Given the description of an element on the screen output the (x, y) to click on. 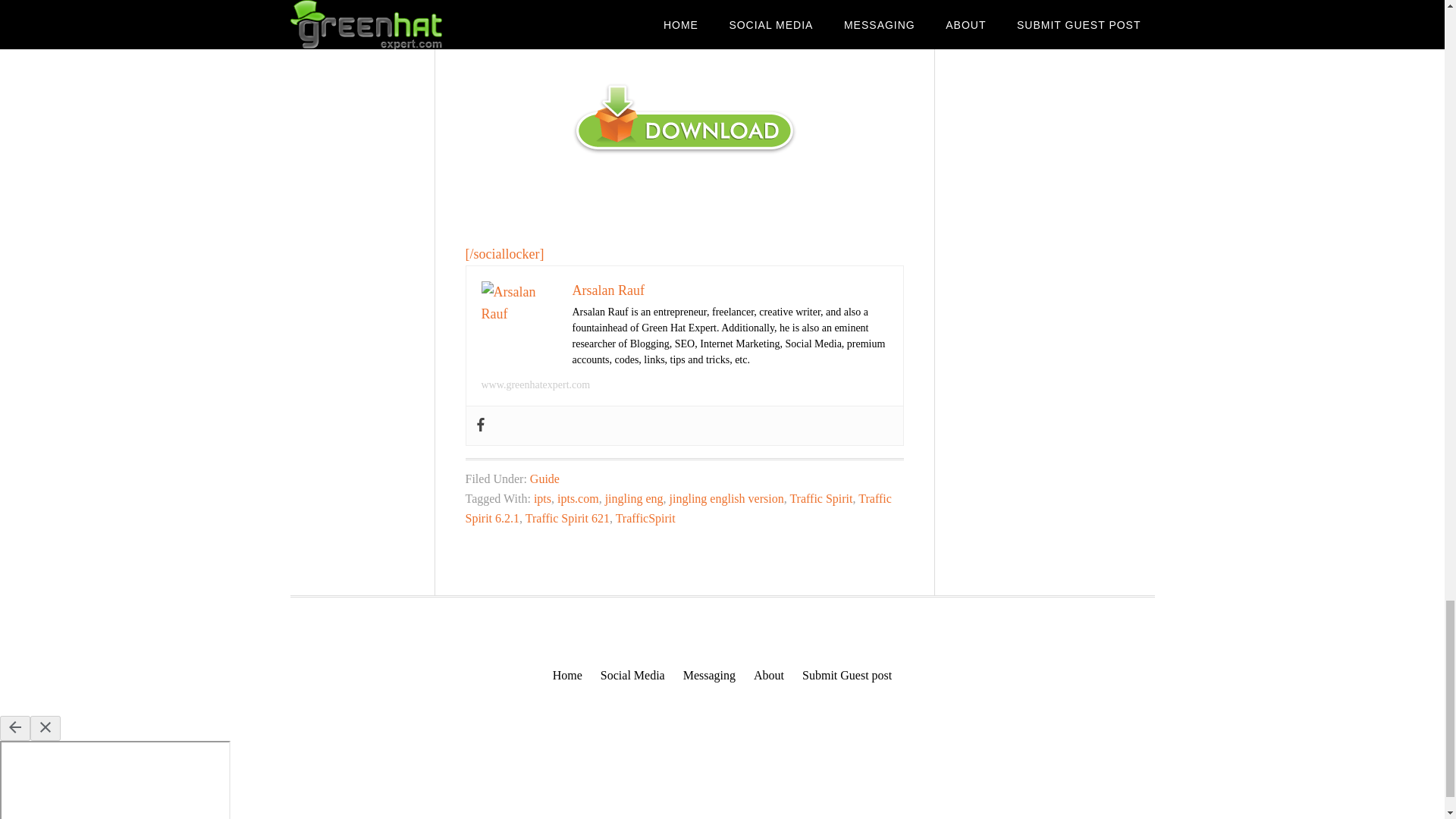
Arsalan Rauf (607, 290)
TrafficSpirit (645, 517)
Traffic Spirit (820, 498)
Traffic Spirit 621 (567, 517)
www.greenhatexpert.com (534, 384)
ipts (542, 498)
Facebook (479, 425)
jingling eng (634, 498)
jingling english version (726, 498)
Traffic Spirit 6.2.1 (678, 508)
ipts.com (577, 498)
Guide (544, 478)
